Given the description of an element on the screen output the (x, y) to click on. 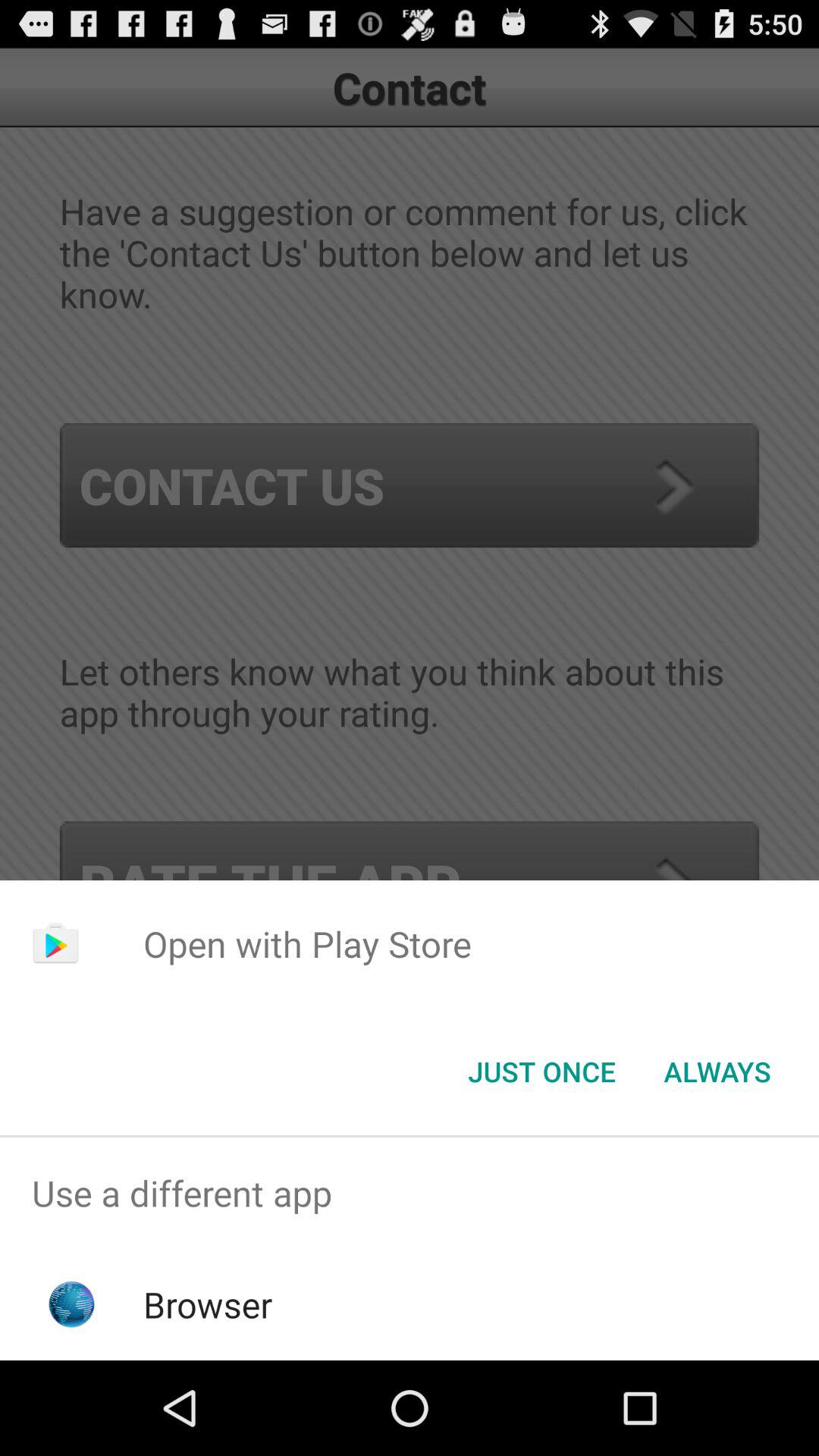
launch use a different (409, 1192)
